Given the description of an element on the screen output the (x, y) to click on. 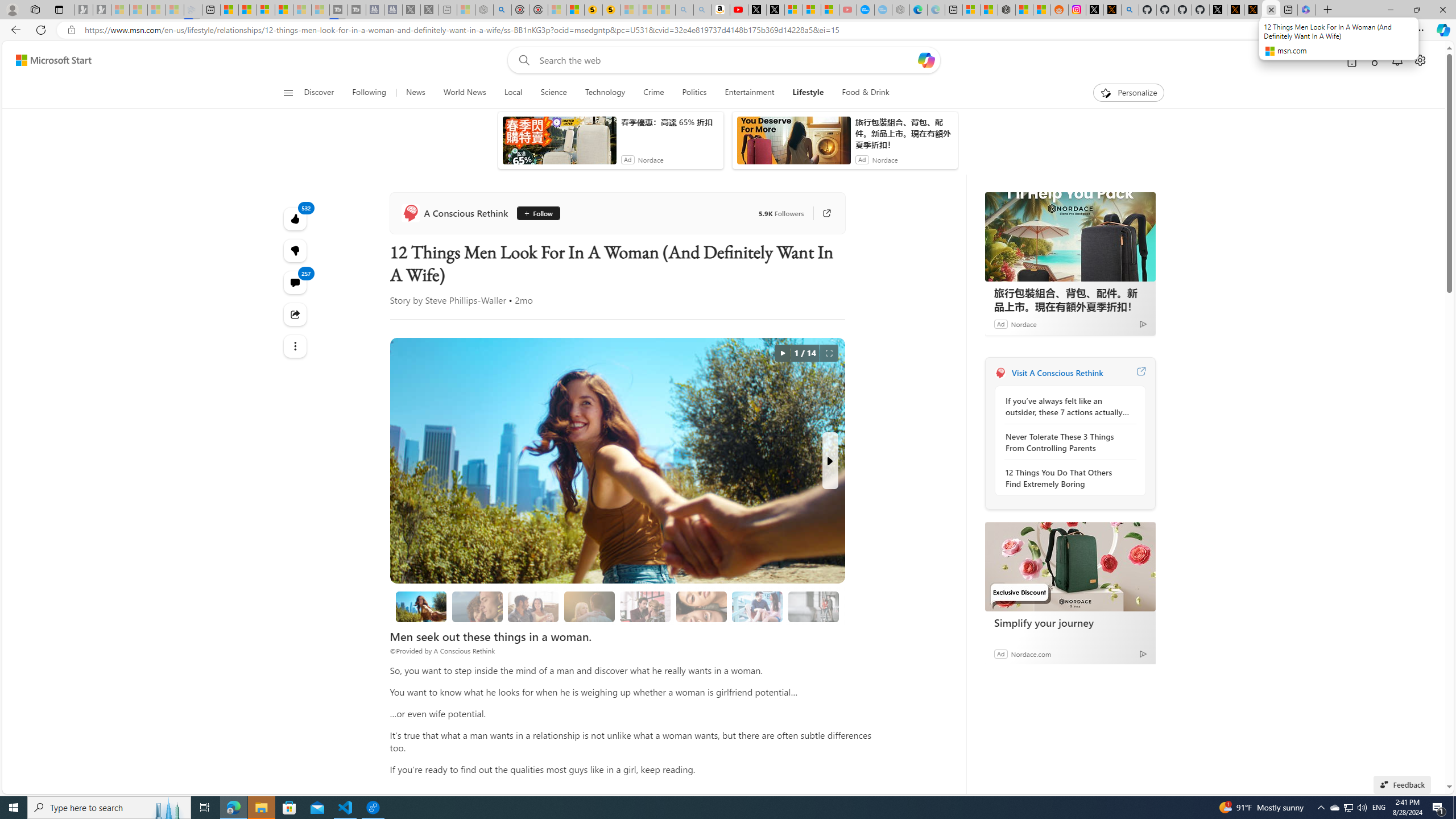
Next Slide (829, 460)
2. She is accepting. (533, 606)
Crime (653, 92)
Technology (605, 92)
Nordace.com (1030, 653)
Skip to footer (46, 59)
Never Tolerate These 3 Things From Controlling Parents (1066, 441)
